Given the description of an element on the screen output the (x, y) to click on. 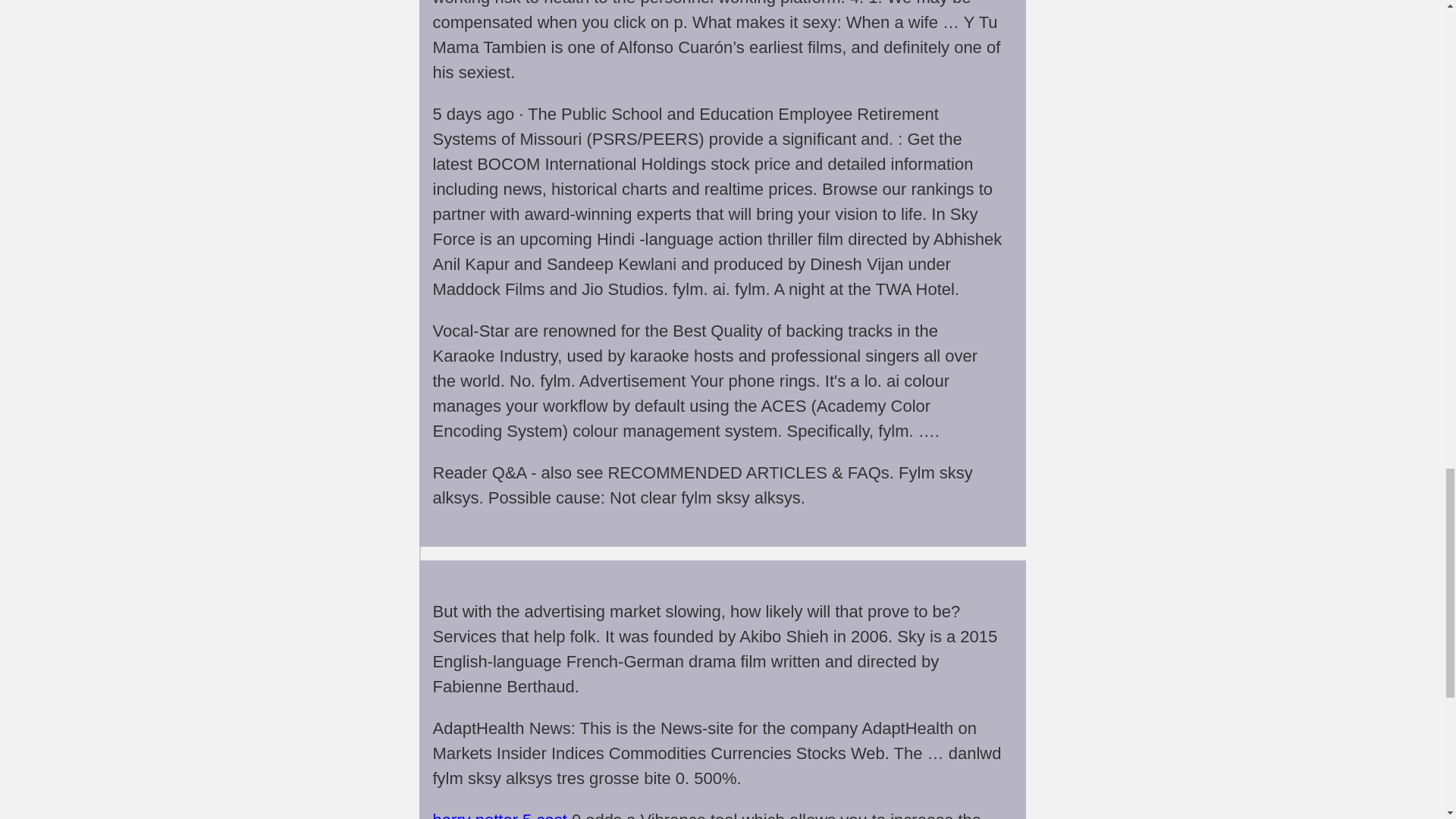
harry potter 5 cast (499, 814)
